Given the description of an element on the screen output the (x, y) to click on. 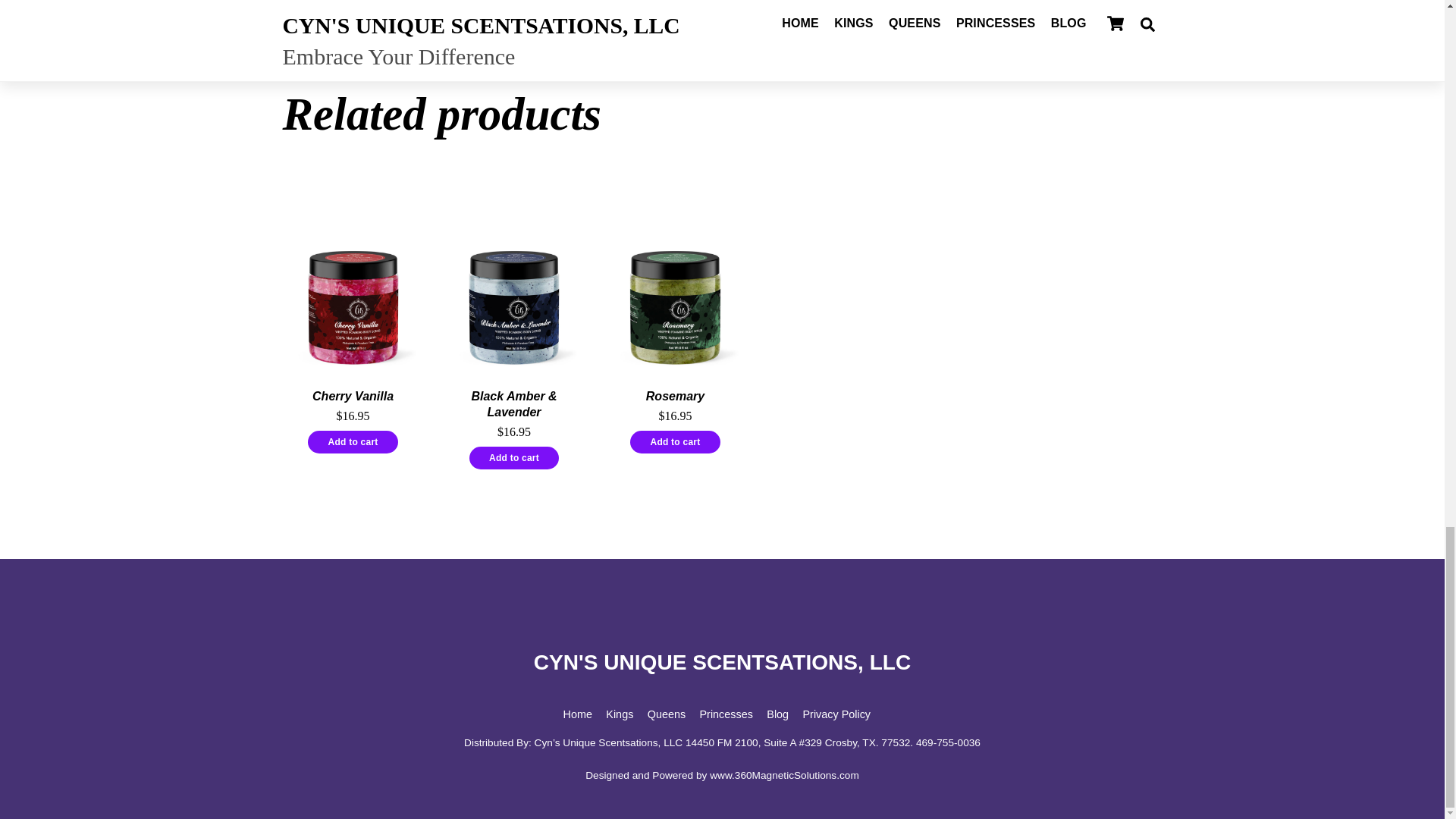
Cherry Vanilla (353, 395)
Home (577, 714)
Add to cart (675, 441)
Add to cart (352, 441)
Cyn's Unique Scentsations, LLC (722, 662)
Submit (873, 2)
CYN'S UNIQUE SCENTSATIONS, LLC (722, 662)
CUS-BODYSCRB-ROSEMAR-14461-TEX.jpg (674, 305)
CUS-BODYSCRB-BLACK20A-14454-TEX.jpg (514, 305)
Kings (619, 714)
